Given the description of an element on the screen output the (x, y) to click on. 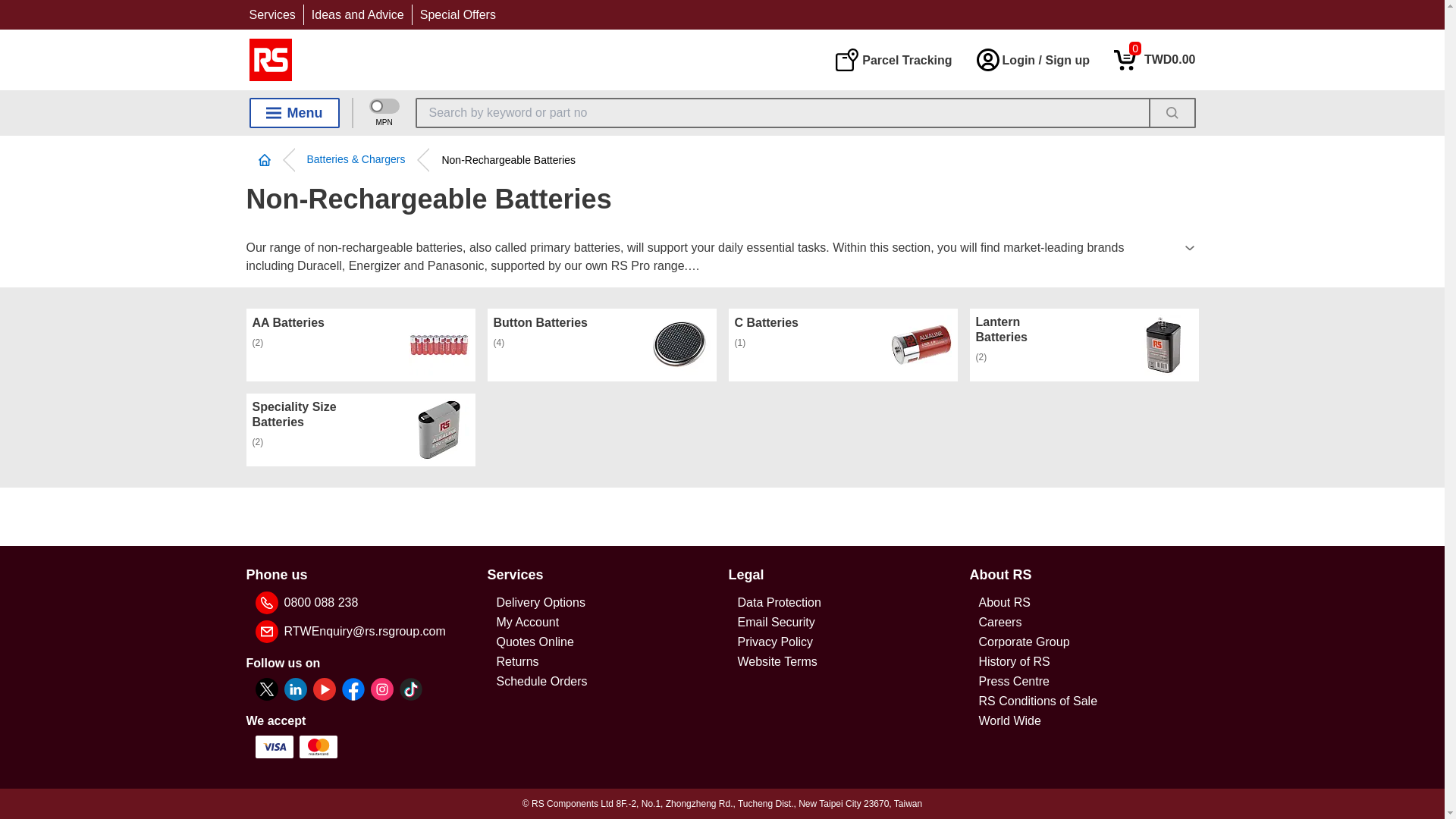
Ideas and Advice (357, 14)
Parcel Tracking (893, 59)
Menu (293, 112)
0 (1154, 59)
Special Offers (1154, 59)
Services (458, 14)
